Given the description of an element on the screen output the (x, y) to click on. 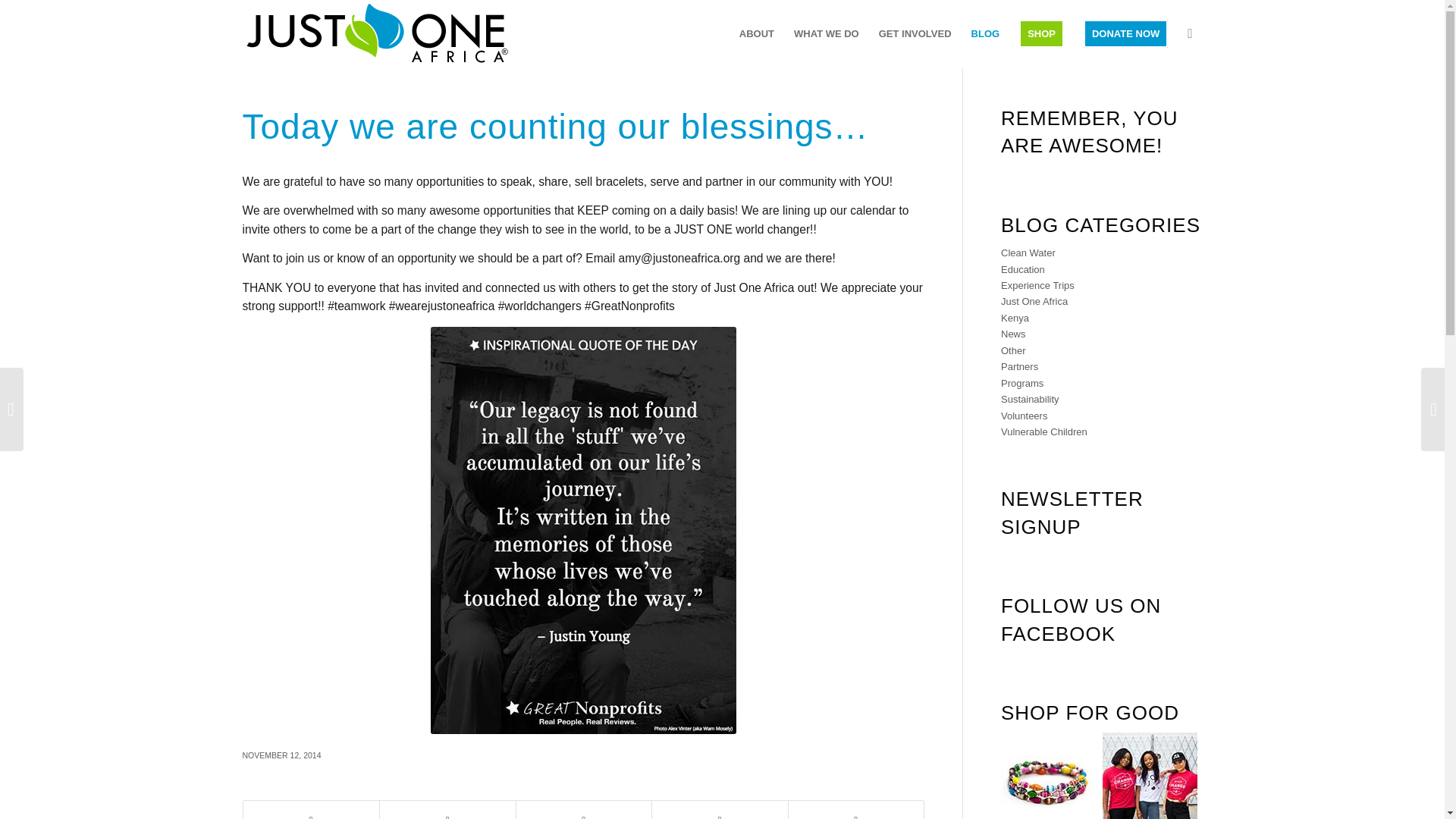
SHOP (1041, 33)
DONATE NOW (1125, 33)
GET INVOLVED (914, 33)
WHAT WE DO (826, 33)
